Given the description of an element on the screen output the (x, y) to click on. 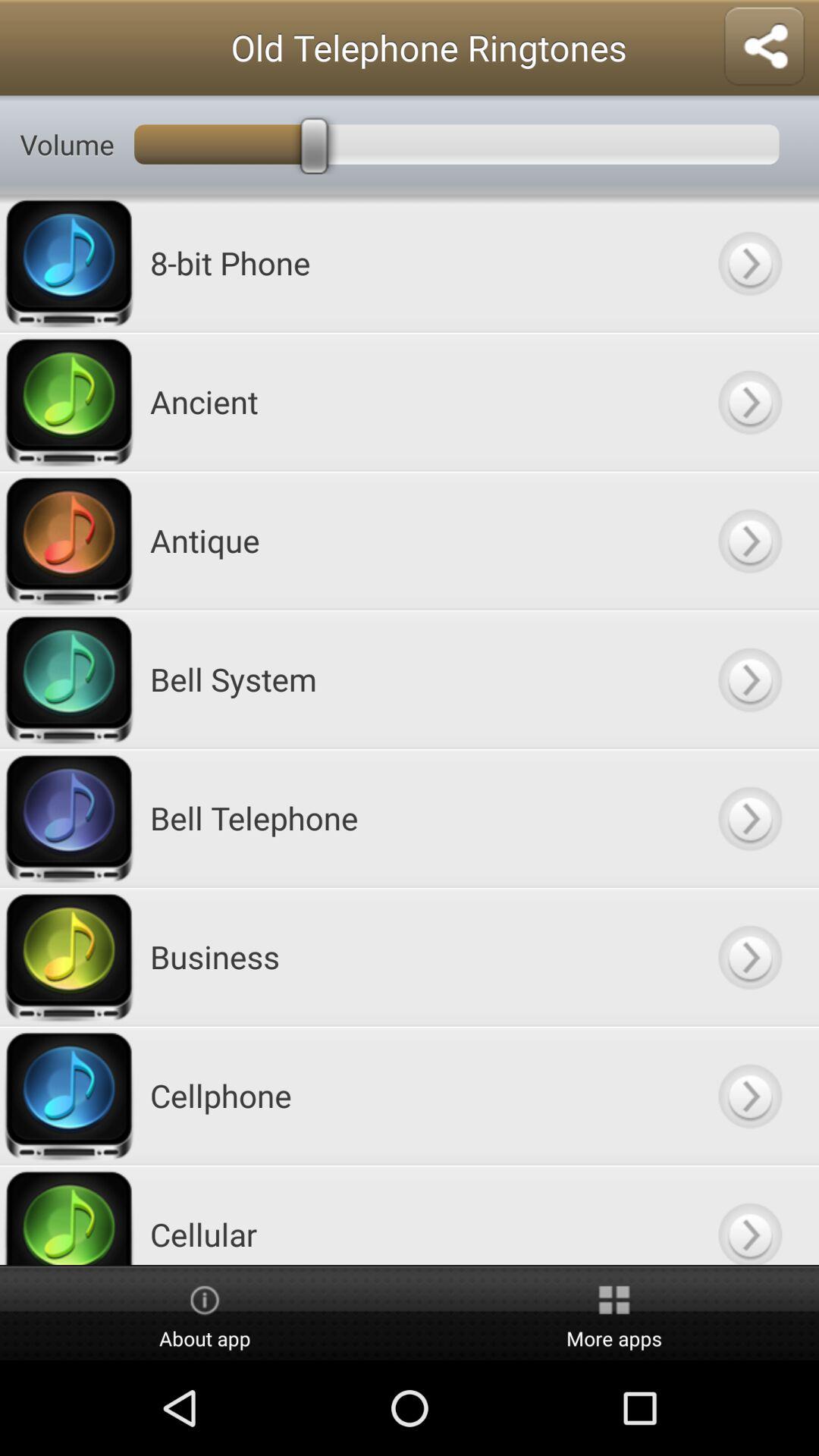
play sound button (749, 679)
